Given the description of an element on the screen output the (x, y) to click on. 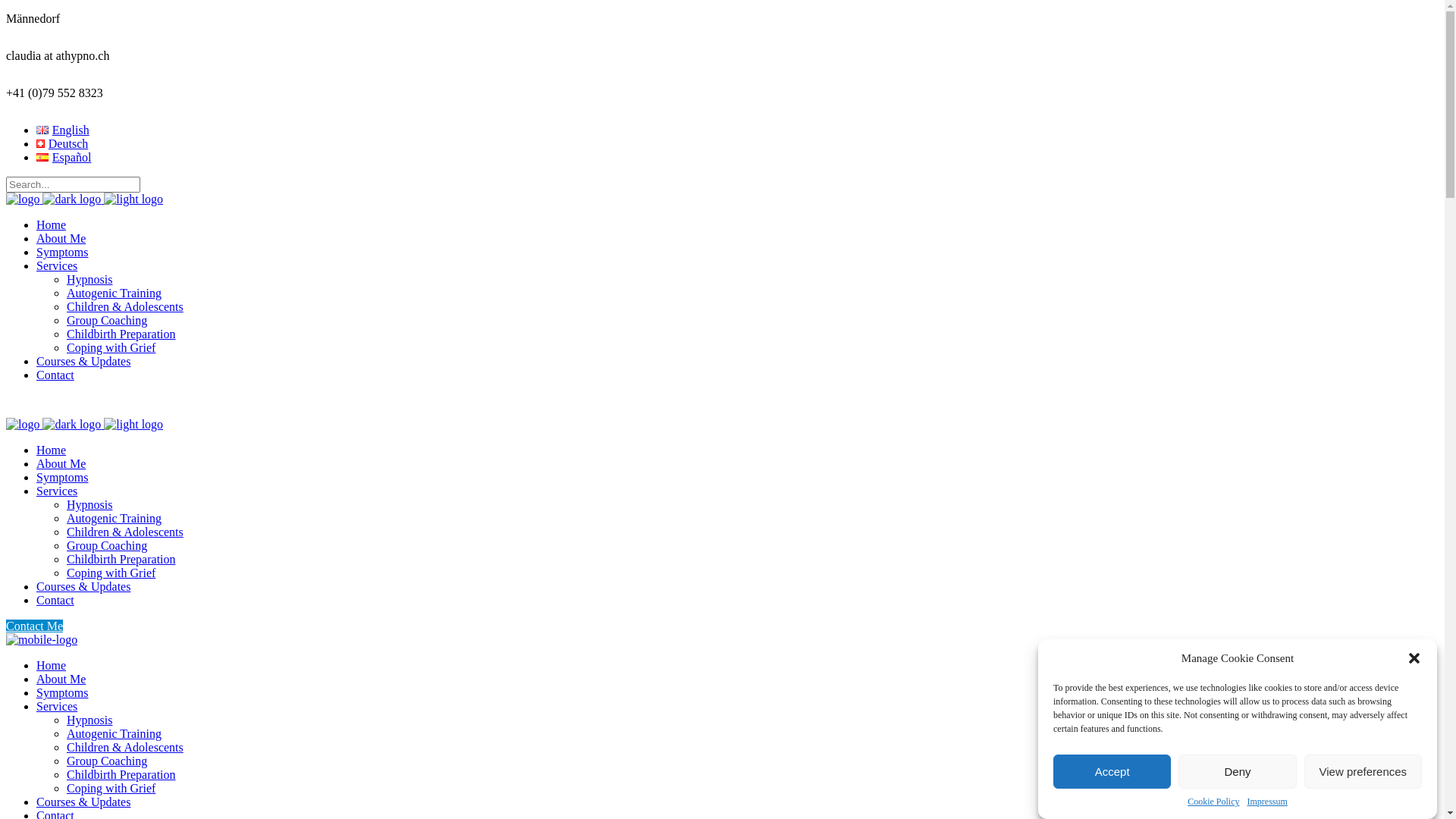
Symptoms Element type: text (61, 476)
Children & Adolescents Element type: text (124, 531)
Childbirth Preparation Element type: text (120, 558)
Hypnosis Element type: text (89, 279)
Hypnosis Element type: text (89, 504)
Children & Adolescents Element type: text (124, 306)
Accept Element type: text (1111, 771)
Courses & Updates Element type: text (83, 360)
Coping with Grief Element type: text (110, 787)
Deny Element type: text (1236, 771)
Children & Adolescents Element type: text (124, 746)
Childbirth Preparation Element type: text (120, 333)
Autogenic Training Element type: text (113, 733)
Autogenic Training Element type: text (113, 292)
Home Element type: text (50, 224)
About Me Element type: text (60, 678)
Coping with Grief Element type: text (110, 572)
Group Coaching Element type: text (106, 760)
Courses & Updates Element type: text (83, 801)
Coping with Grief Element type: text (110, 347)
Group Coaching Element type: text (106, 545)
Group Coaching Element type: text (106, 319)
View preferences Element type: text (1362, 771)
Home Element type: text (50, 664)
Contact Element type: text (55, 374)
Childbirth Preparation Element type: text (120, 774)
Services Element type: text (56, 490)
Deutsch Element type: text (61, 143)
Impressum Element type: text (1266, 801)
Symptoms Element type: text (61, 692)
About Me Element type: text (60, 238)
Services Element type: text (56, 265)
Home Element type: text (50, 449)
About Me Element type: text (60, 463)
Contact Me Element type: text (34, 625)
English Element type: text (62, 129)
Hypnosis Element type: text (89, 719)
Courses & Updates Element type: text (83, 586)
Symptoms Element type: text (61, 251)
Services Element type: text (56, 705)
Autogenic Training Element type: text (113, 517)
Contact Element type: text (55, 599)
Cookie Policy Element type: text (1213, 801)
